Given the description of an element on the screen output the (x, y) to click on. 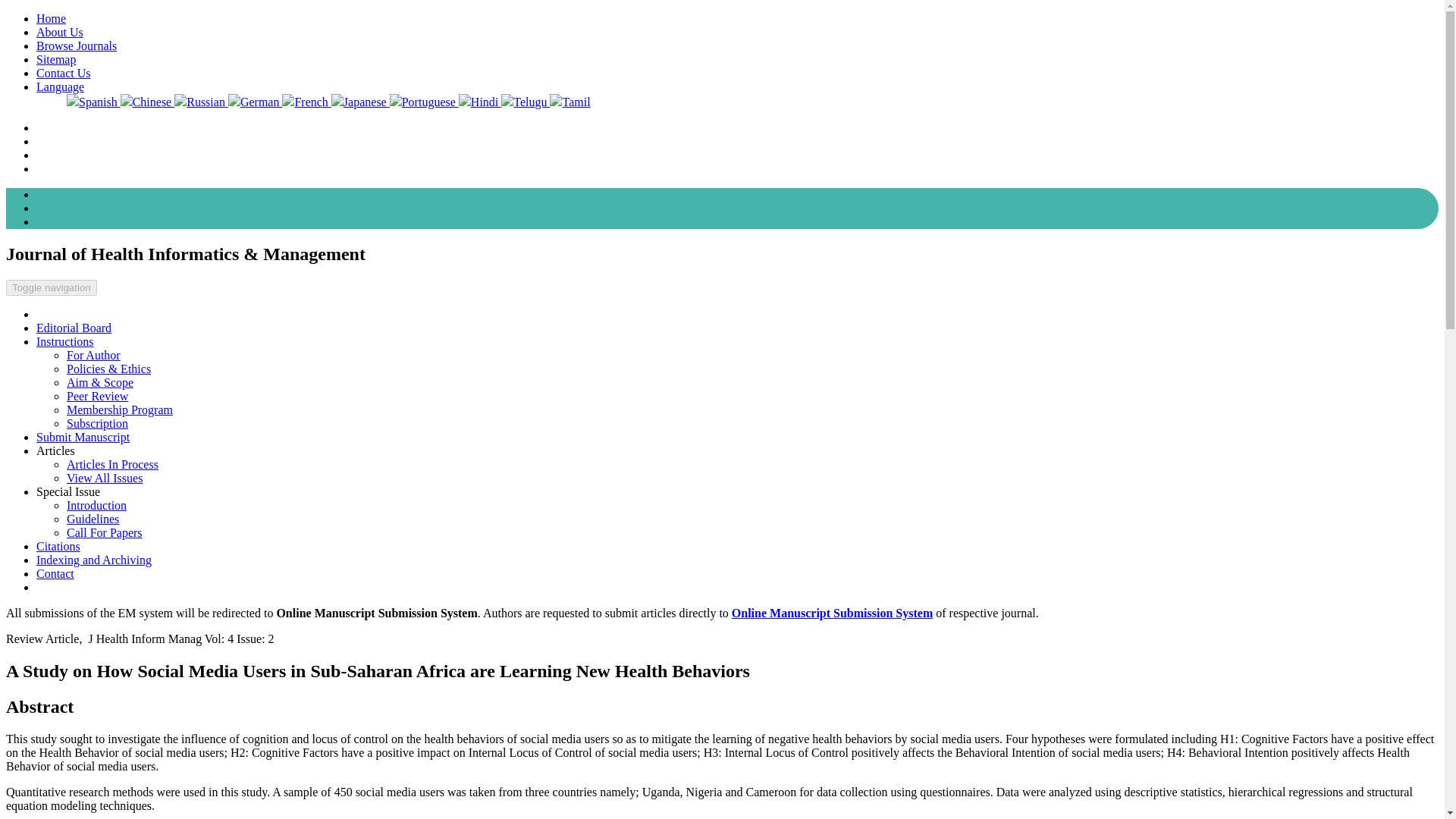
Guidelines (92, 518)
Editorial Board (74, 327)
Spanish (93, 101)
Japanese (360, 101)
Subscription (97, 422)
French (306, 101)
View All Issues (104, 477)
Submit Manuscript (82, 436)
Browse Journals (76, 45)
Contact Us (63, 72)
Home (50, 18)
Chinese (147, 101)
Telugu (525, 101)
Tamil (569, 101)
Russian (201, 101)
